Given the description of an element on the screen output the (x, y) to click on. 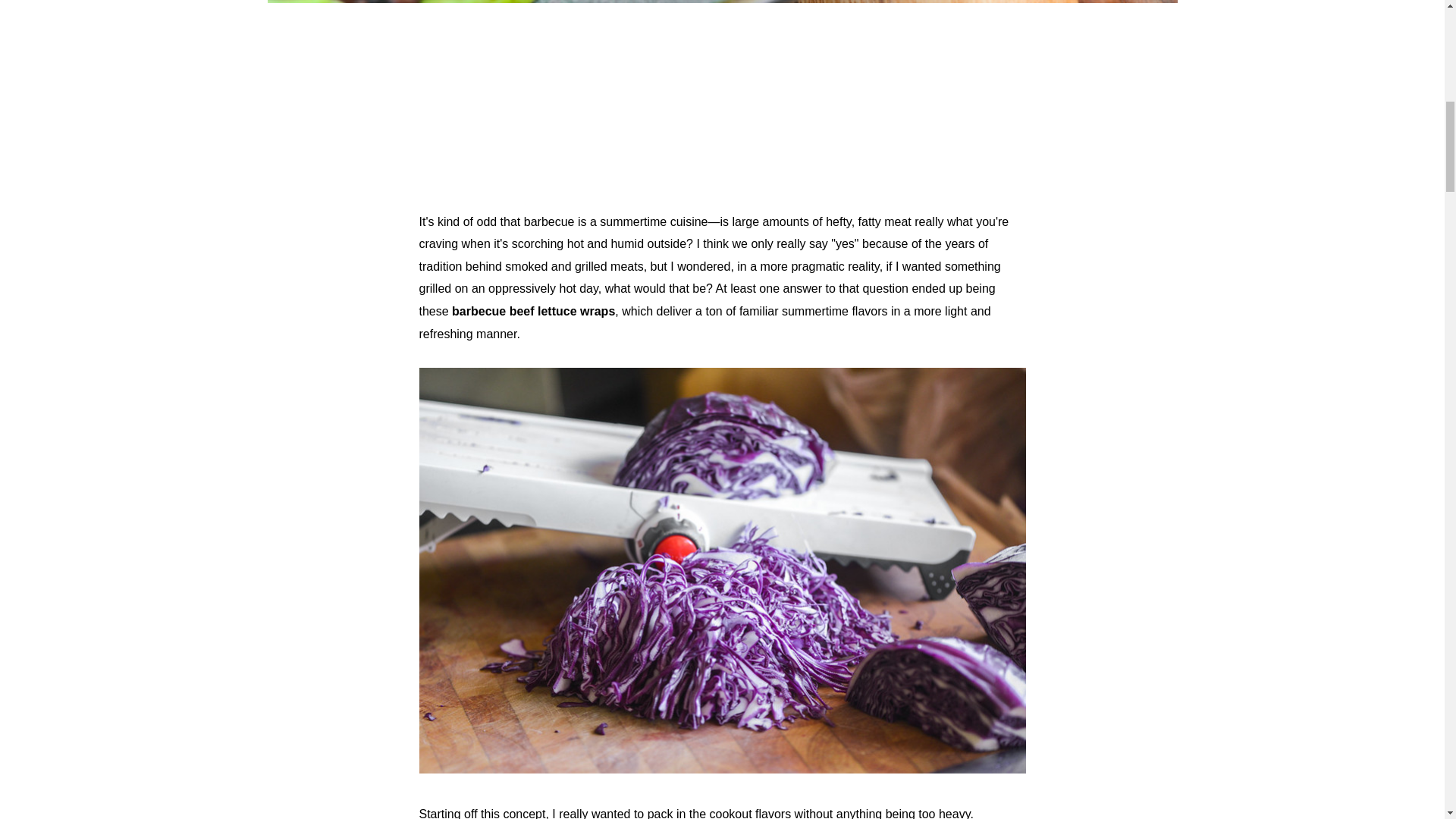
Barbecue Beef Lettuce Wraps (722, 768)
